Given the description of an element on the screen output the (x, y) to click on. 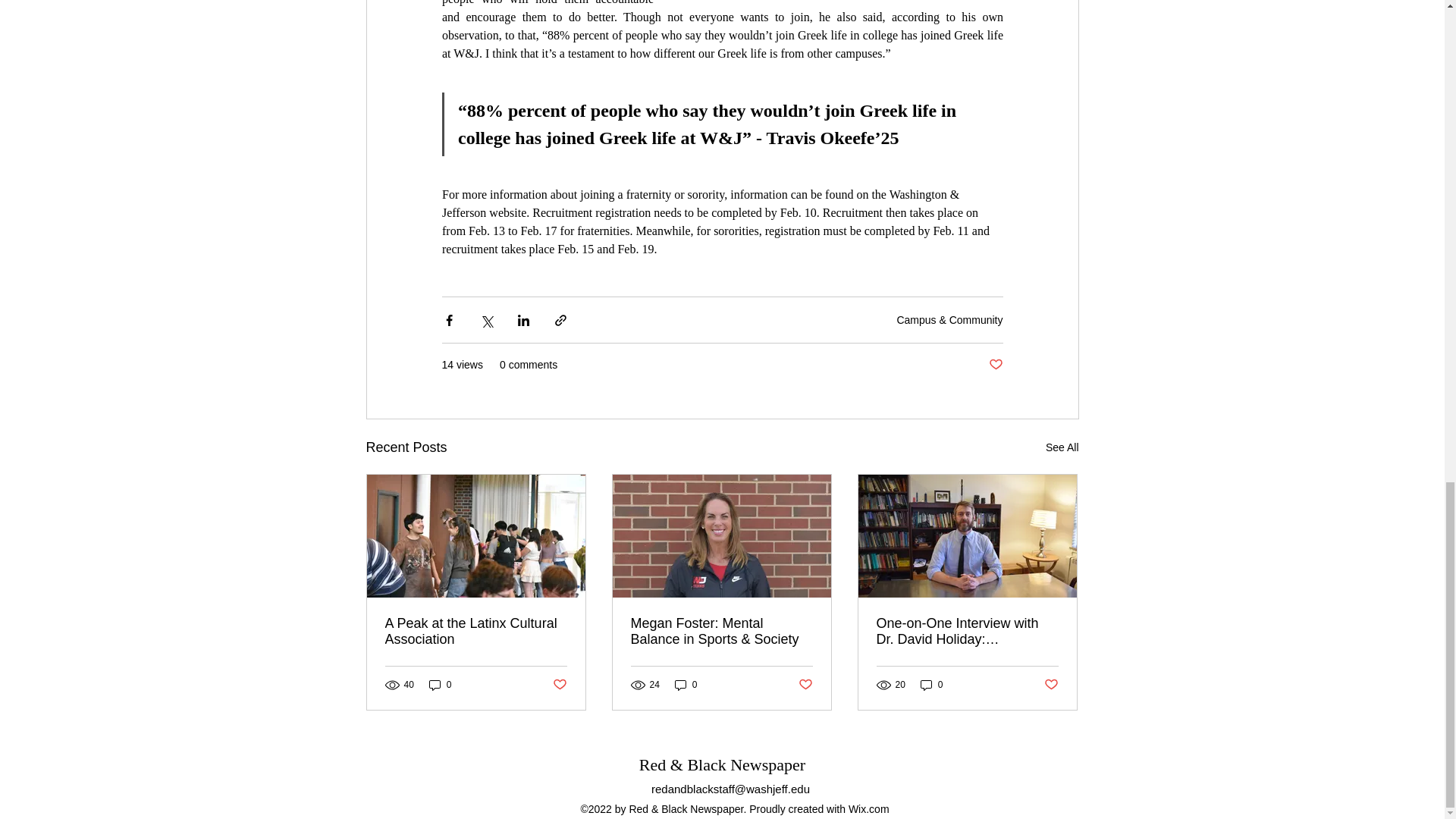
A Peak at the Latinx Cultural Association (476, 631)
Post not marked as liked (804, 684)
0 (685, 684)
Post not marked as liked (1050, 684)
0 (440, 684)
Post not marked as liked (558, 684)
Post not marked as liked (995, 365)
0 (931, 684)
See All (1061, 447)
